Given the description of an element on the screen output the (x, y) to click on. 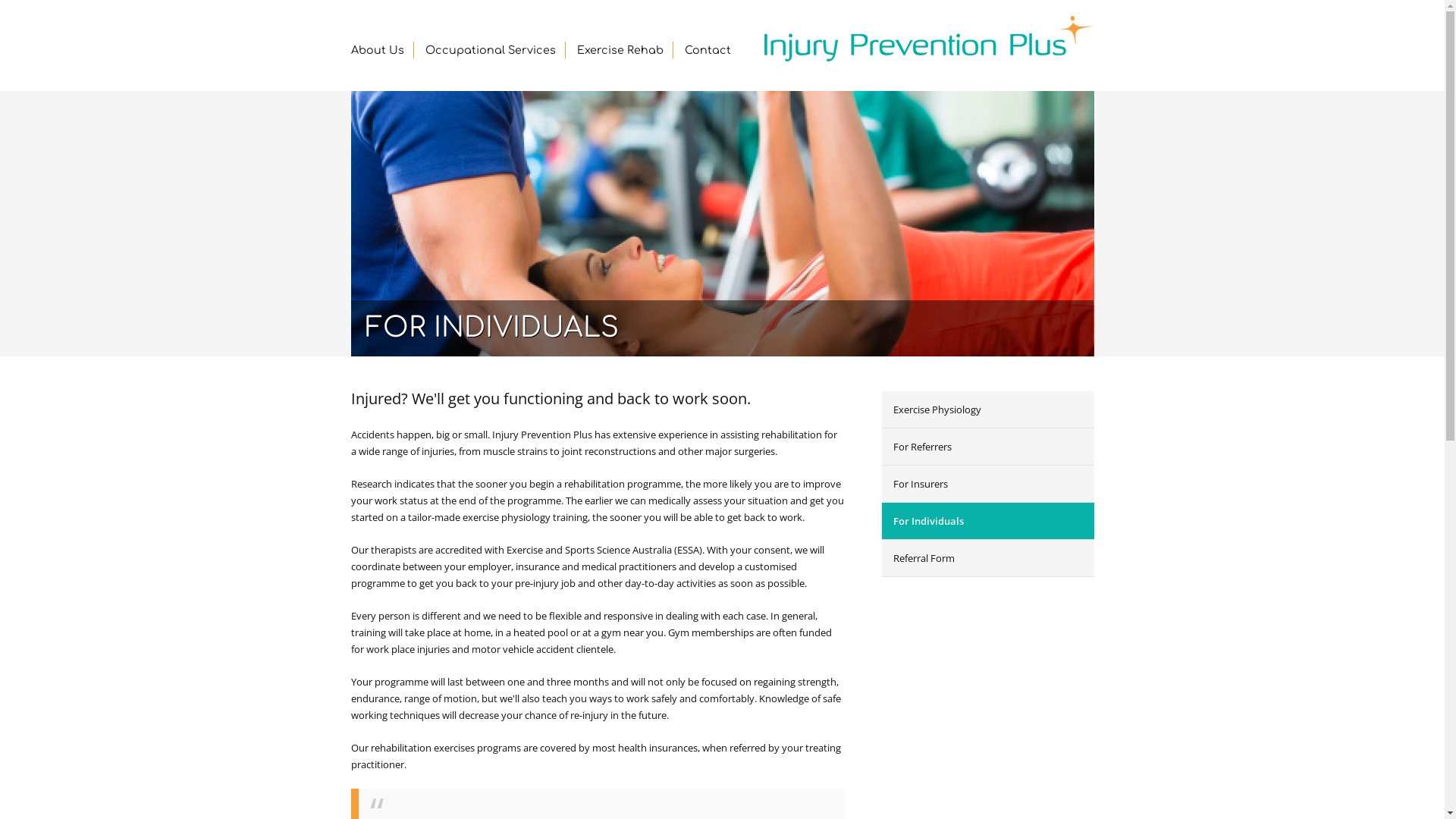
About Us Element type: text (376, 49)
Contact Element type: text (707, 49)
Referral Form Element type: text (987, 558)
Exercise Rehab Element type: text (619, 49)
For Referrers Element type: text (987, 446)
For Individuals Element type: text (987, 520)
Jump to navigation Element type: text (722, 2)
For Insurers Element type: text (987, 483)
Exercise Physiology Element type: text (987, 409)
Occupational Services Element type: text (489, 49)
Home Element type: hover (927, 38)
